Given the description of an element on the screen output the (x, y) to click on. 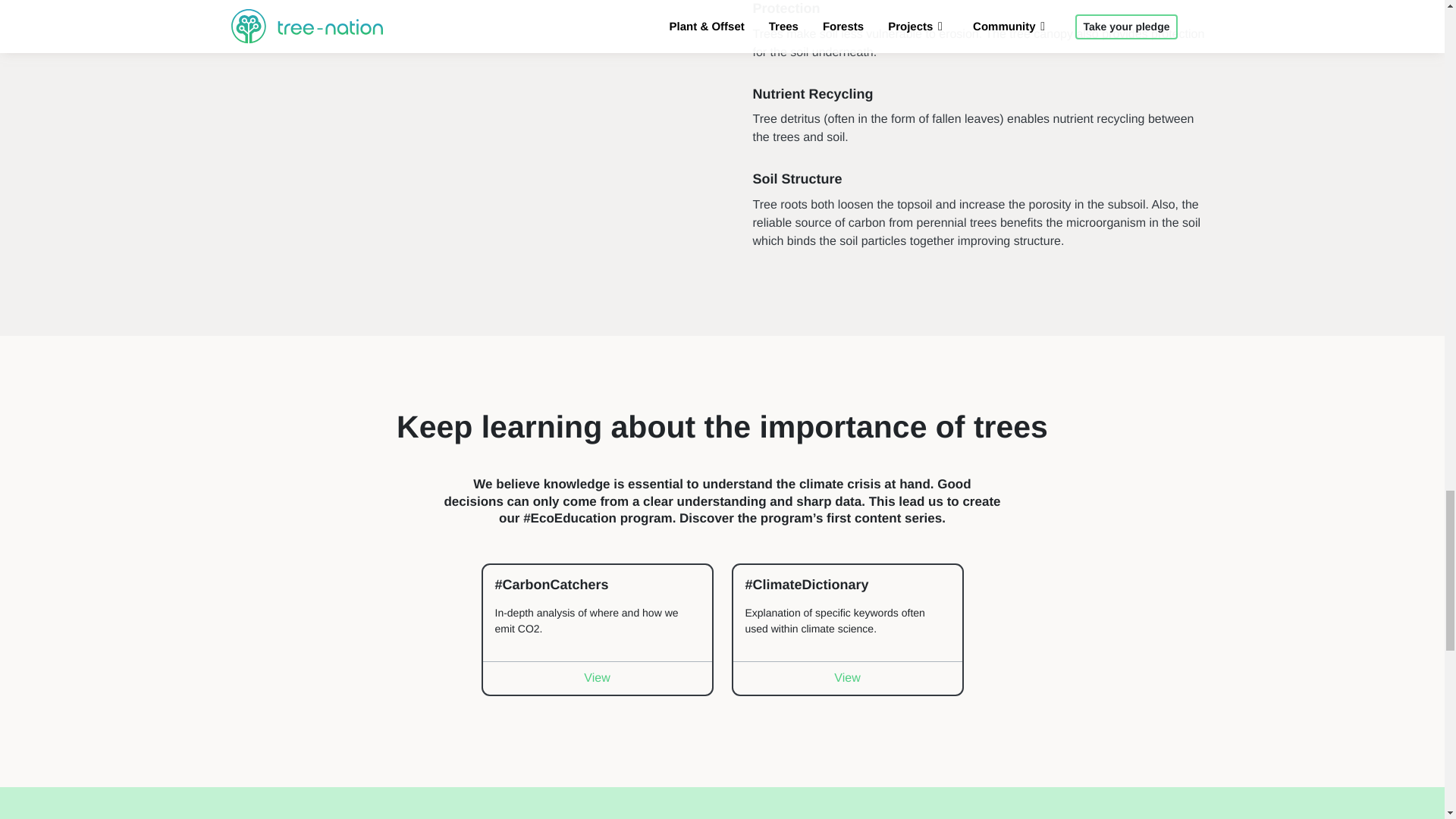
View (596, 677)
View (846, 677)
